Given the description of an element on the screen output the (x, y) to click on. 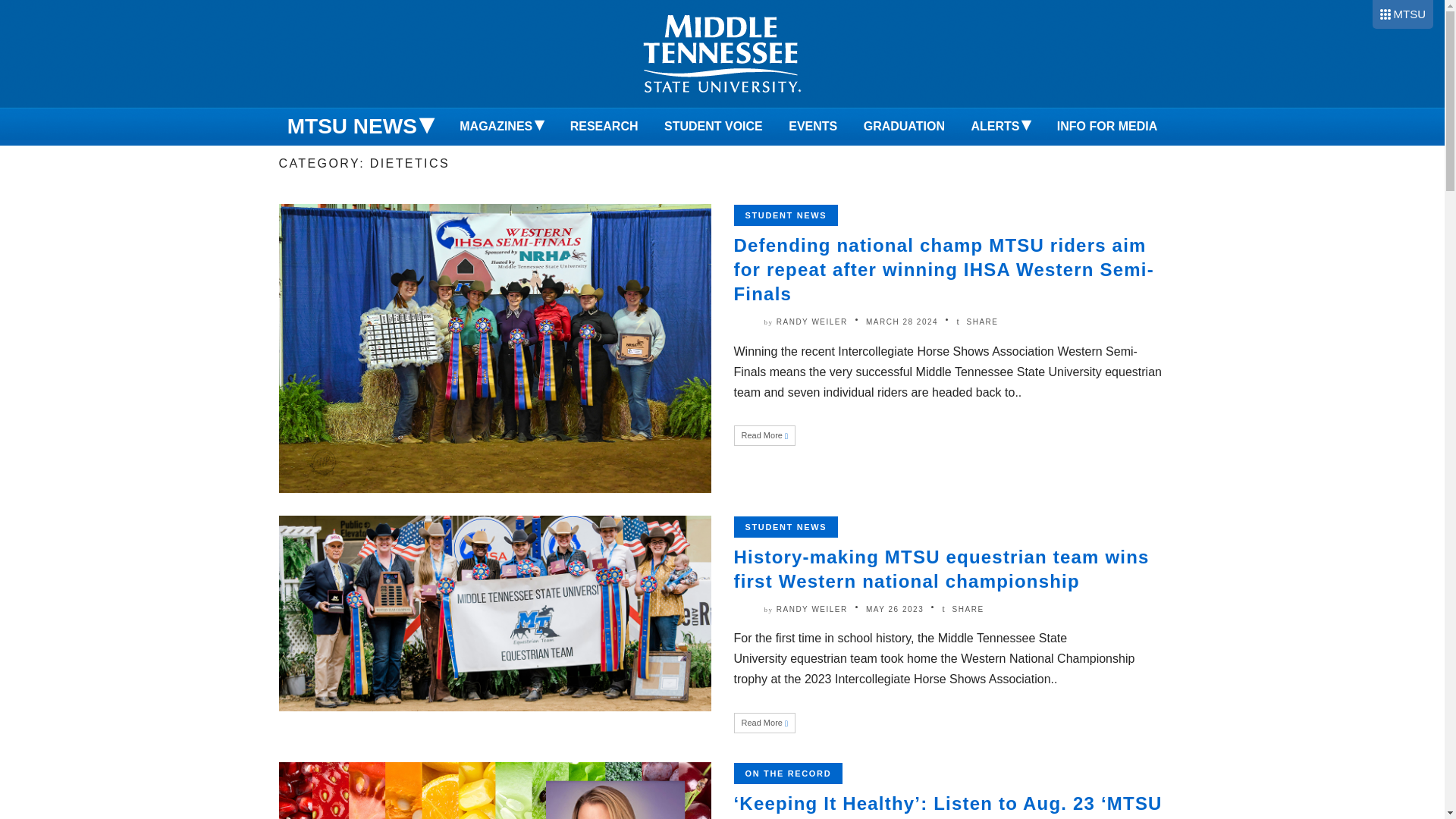
Posts by Randy Weiler (811, 321)
Posts by Randy Weiler (811, 609)
March 28, 2024 1:48 (901, 321)
May 26, 2023 10:28 (894, 609)
